Given the description of an element on the screen output the (x, y) to click on. 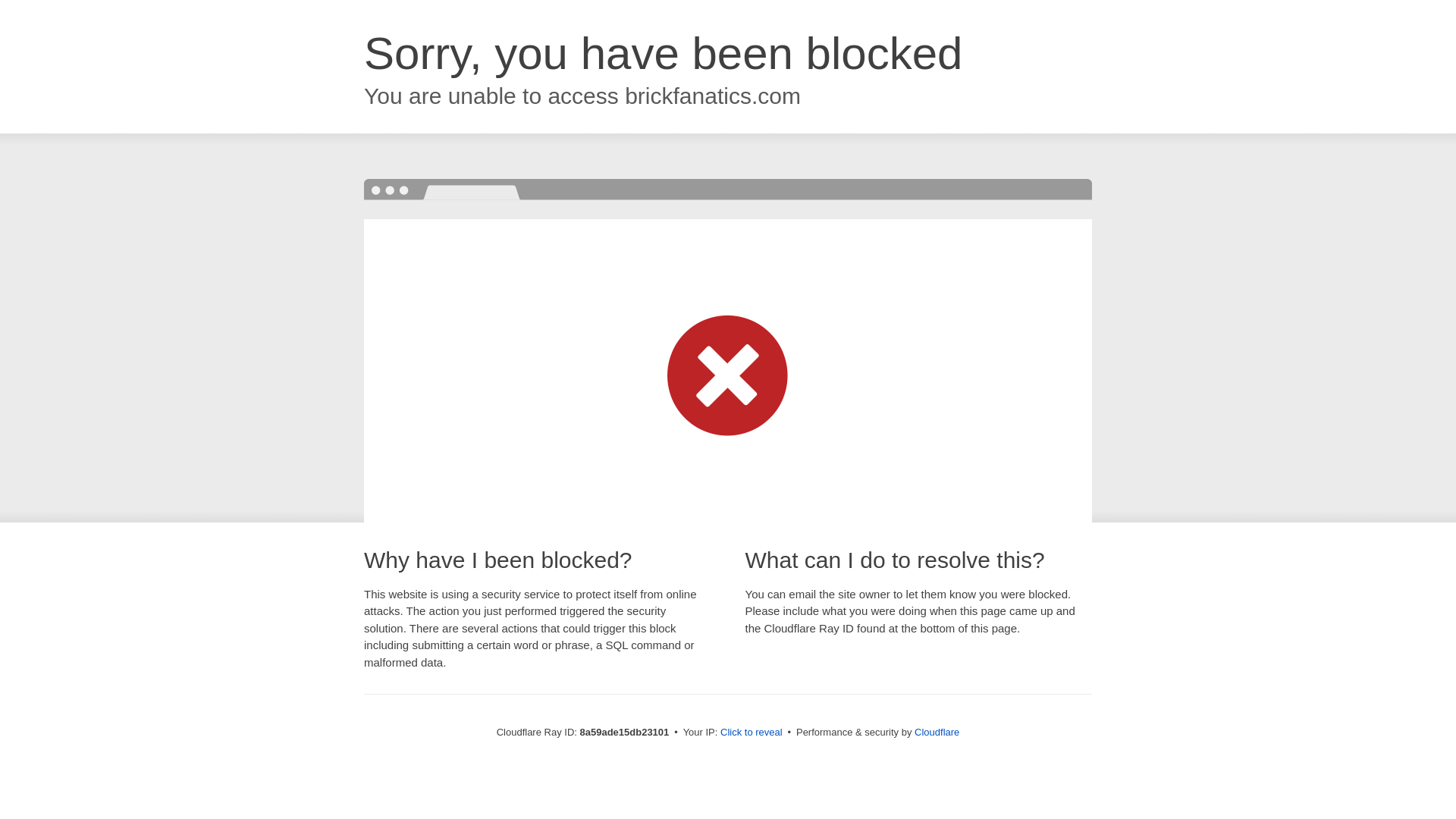
Click to reveal (751, 732)
Cloudflare (936, 731)
